Given the description of an element on the screen output the (x, y) to click on. 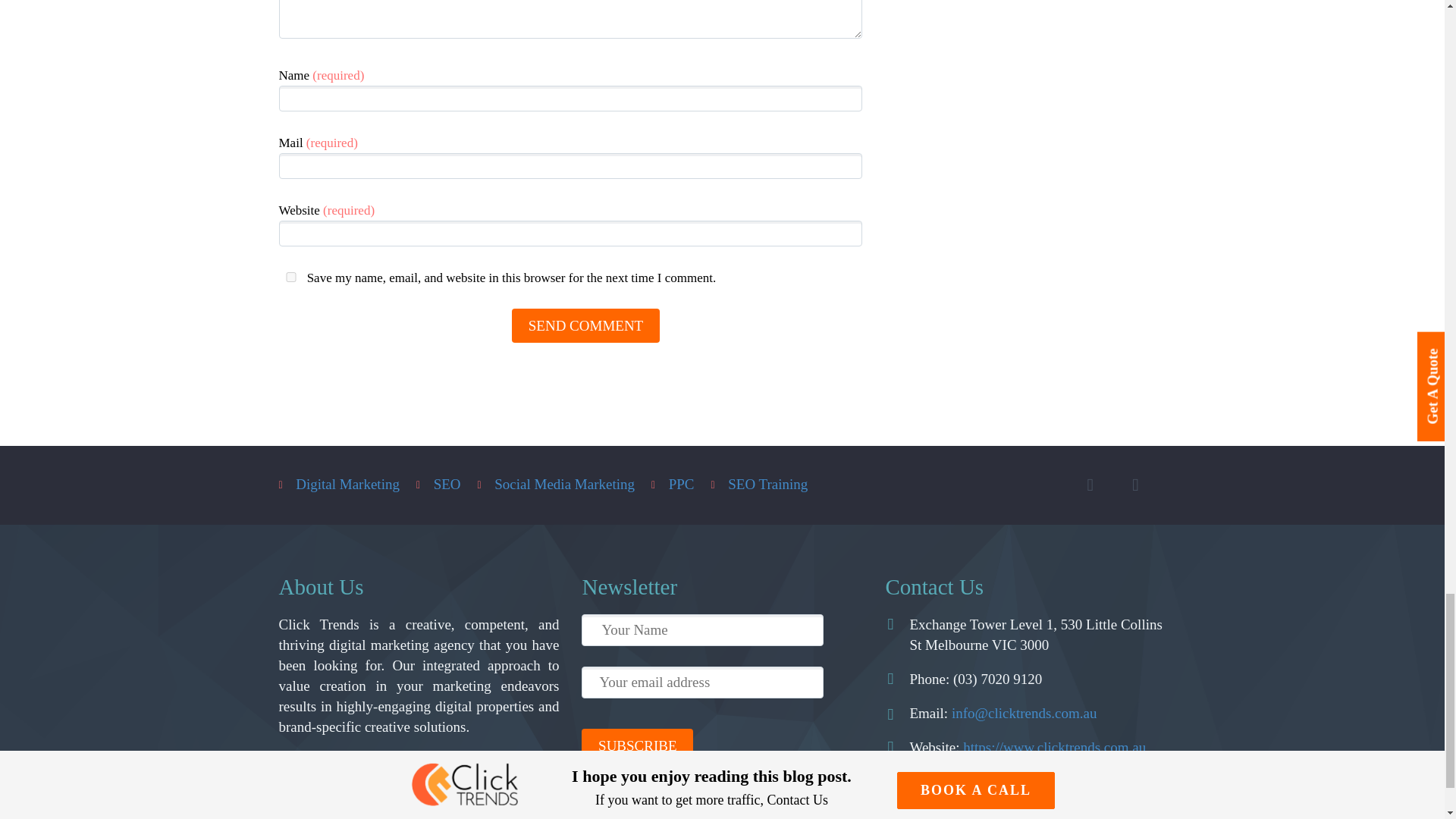
Subscribe (636, 745)
Send Comment (585, 325)
Send Comment (585, 325)
yes (290, 276)
